Given the description of an element on the screen output the (x, y) to click on. 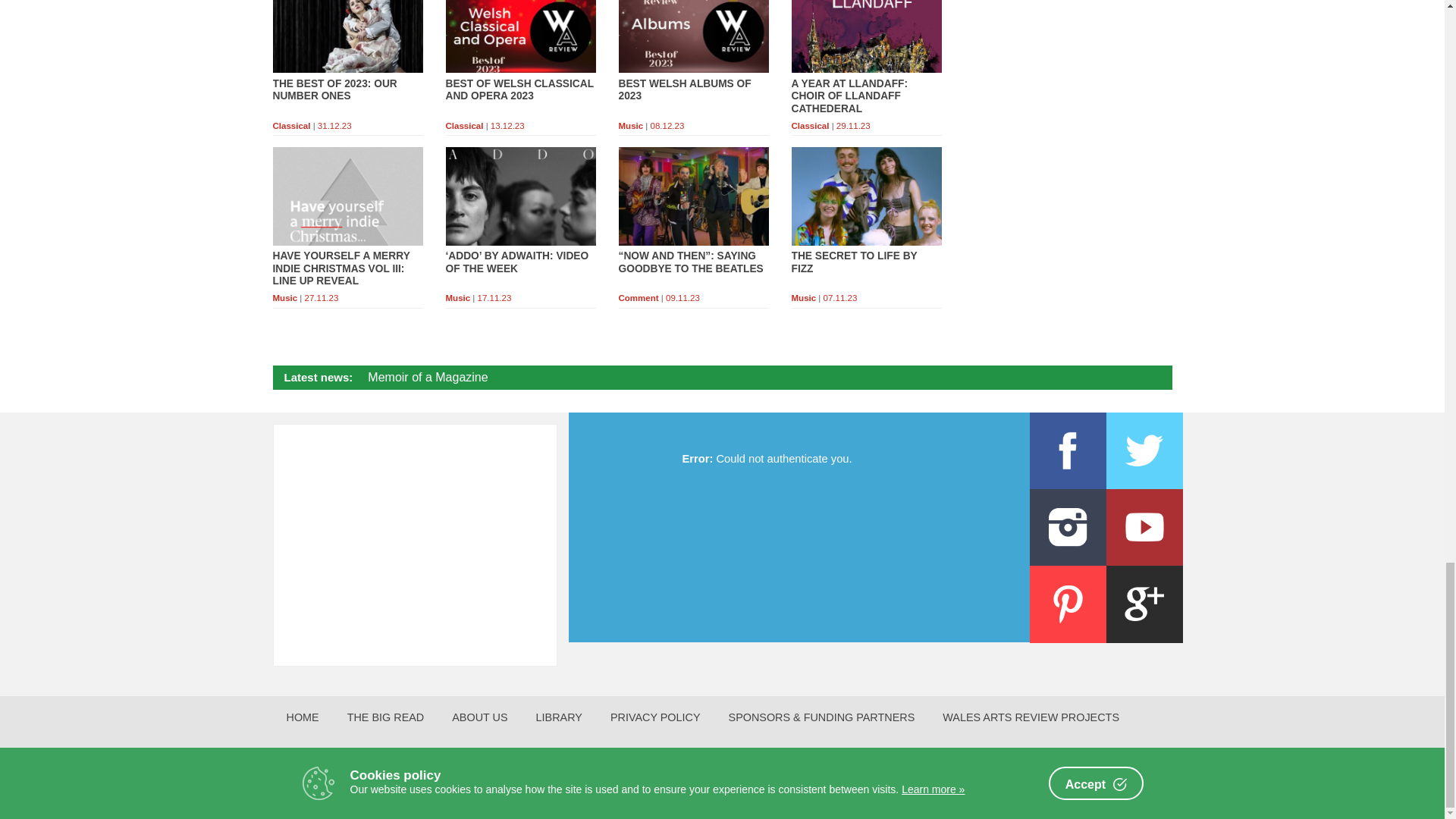
Memoir of a Magazine (427, 377)
